Given the description of an element on the screen output the (x, y) to click on. 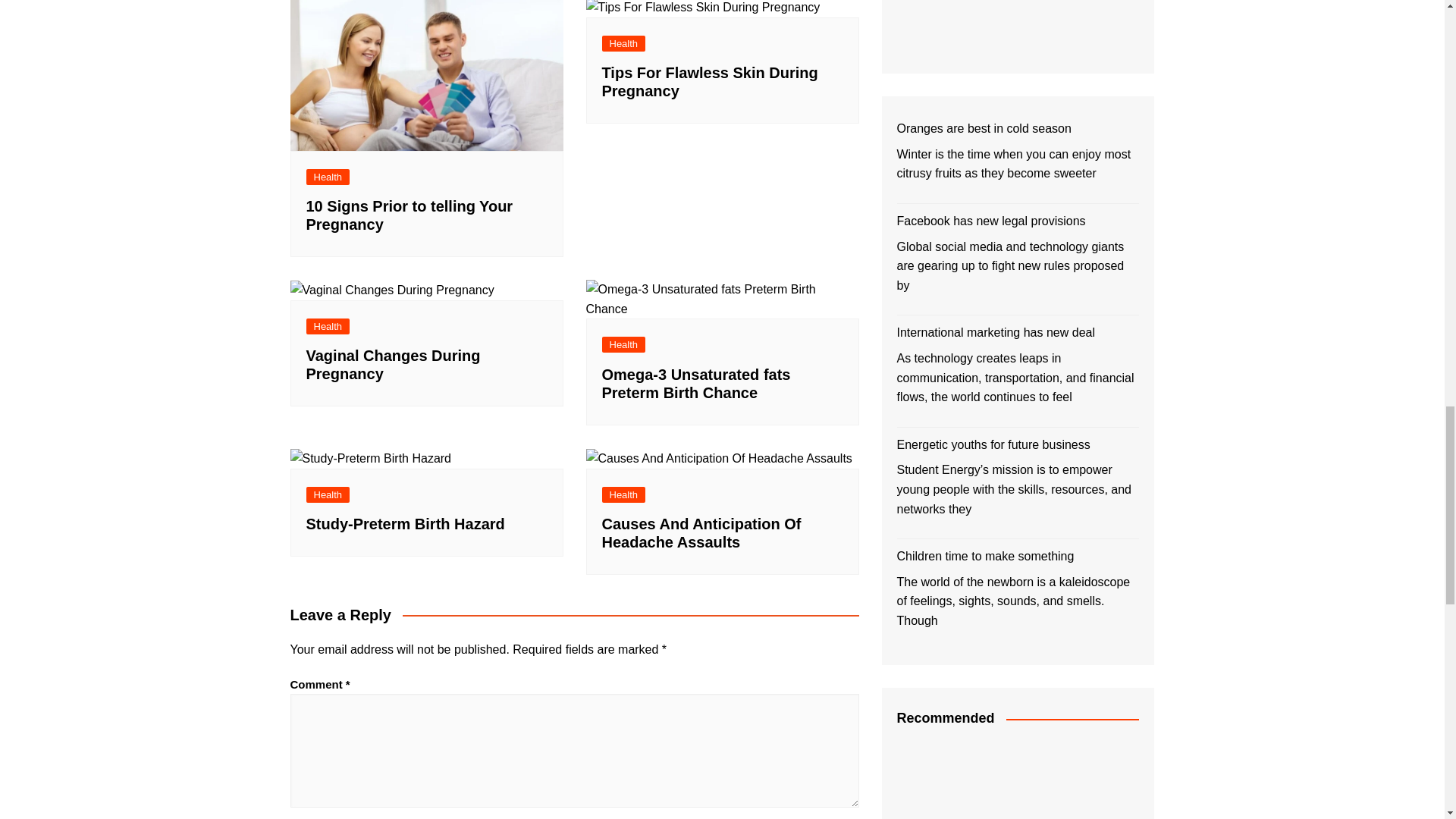
Causes And Anticipation Of Headache Assaults (718, 458)
Vaginal Changes During Pregnancy (391, 290)
Omega-3 Unsaturated fats Preterm Birth Chance (722, 299)
10 Signs Prior to telling Your Pregnancy (425, 75)
Tips For Flawless Skin During Pregnancy (702, 8)
Study-Preterm Birth Hazard (370, 458)
